Given the description of an element on the screen output the (x, y) to click on. 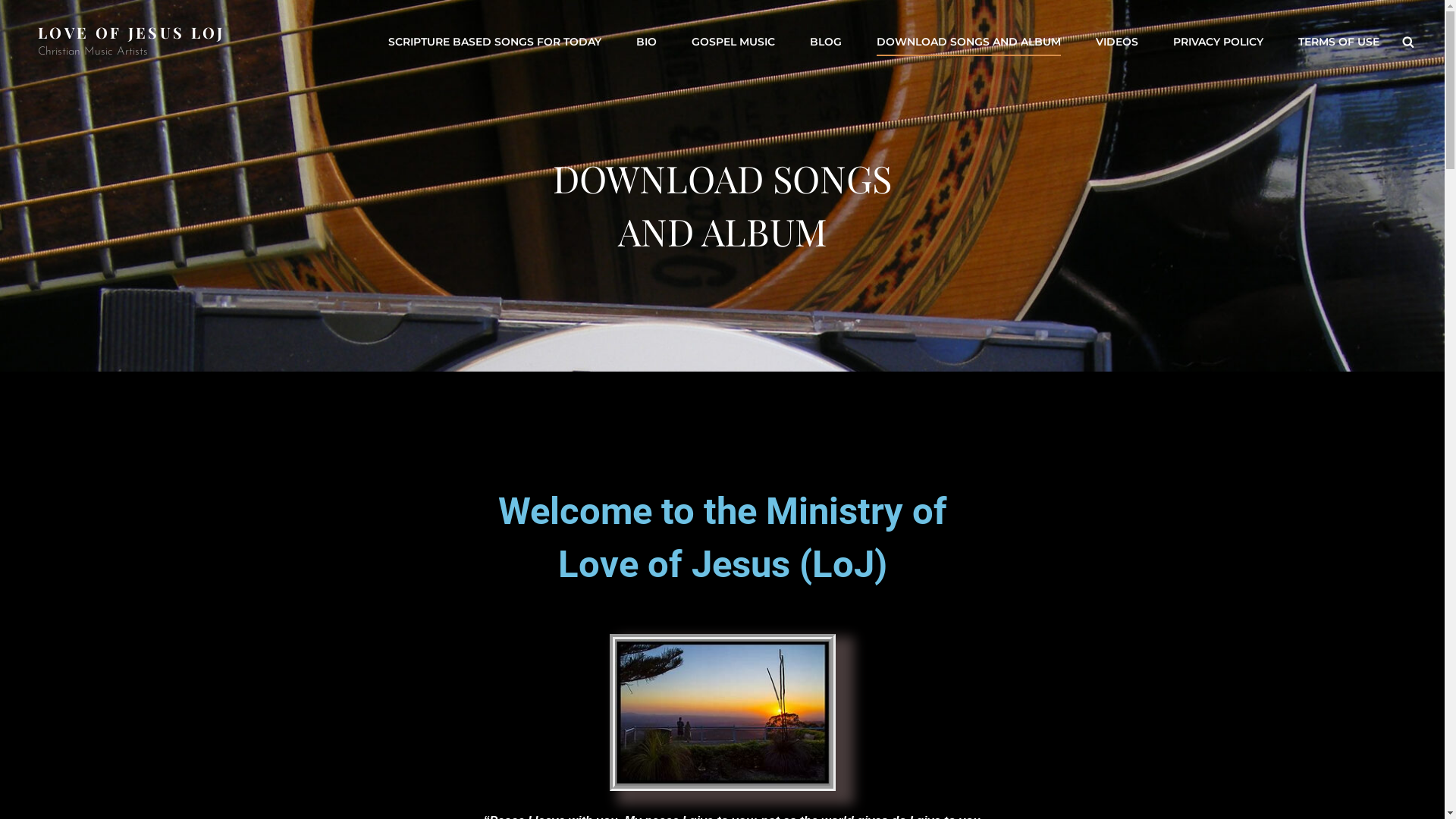
DOWNLOAD SONGS AND ALBUM Element type: text (968, 41)
GOSPEL MUSIC Element type: text (733, 41)
LOVE OF JESUS LOJ Element type: text (131, 31)
BIO Element type: text (646, 41)
TERMS OF USE Element type: text (1338, 41)
BLOG Element type: text (825, 41)
PRIVACY POLICY Element type: text (1217, 41)
SCRIPTURE BASED SONGS FOR TODAY Element type: text (494, 41)
VIDEOS Element type: text (1116, 41)
